Given the description of an element on the screen output the (x, y) to click on. 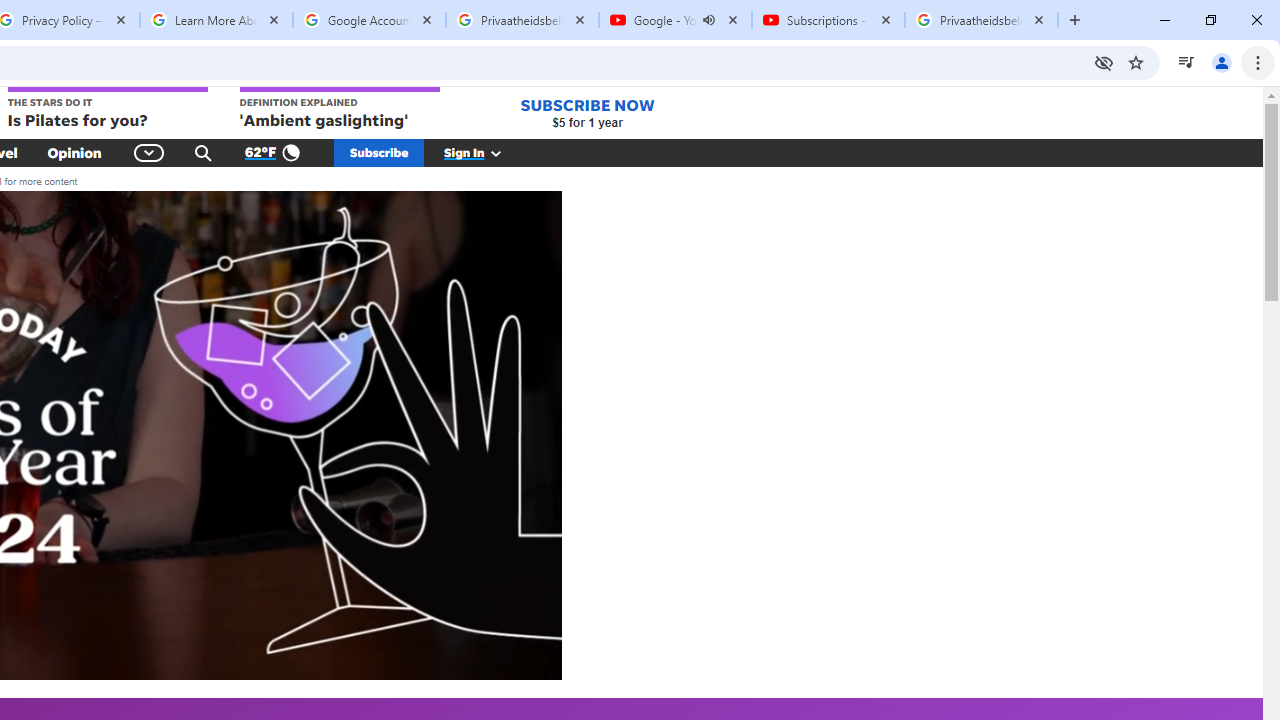
Subscriptions - YouTube (827, 20)
THE STARS DO IT Is Pilates for you? (106, 109)
Opinion (74, 152)
Google Account (369, 20)
